Given the description of an element on the screen output the (x, y) to click on. 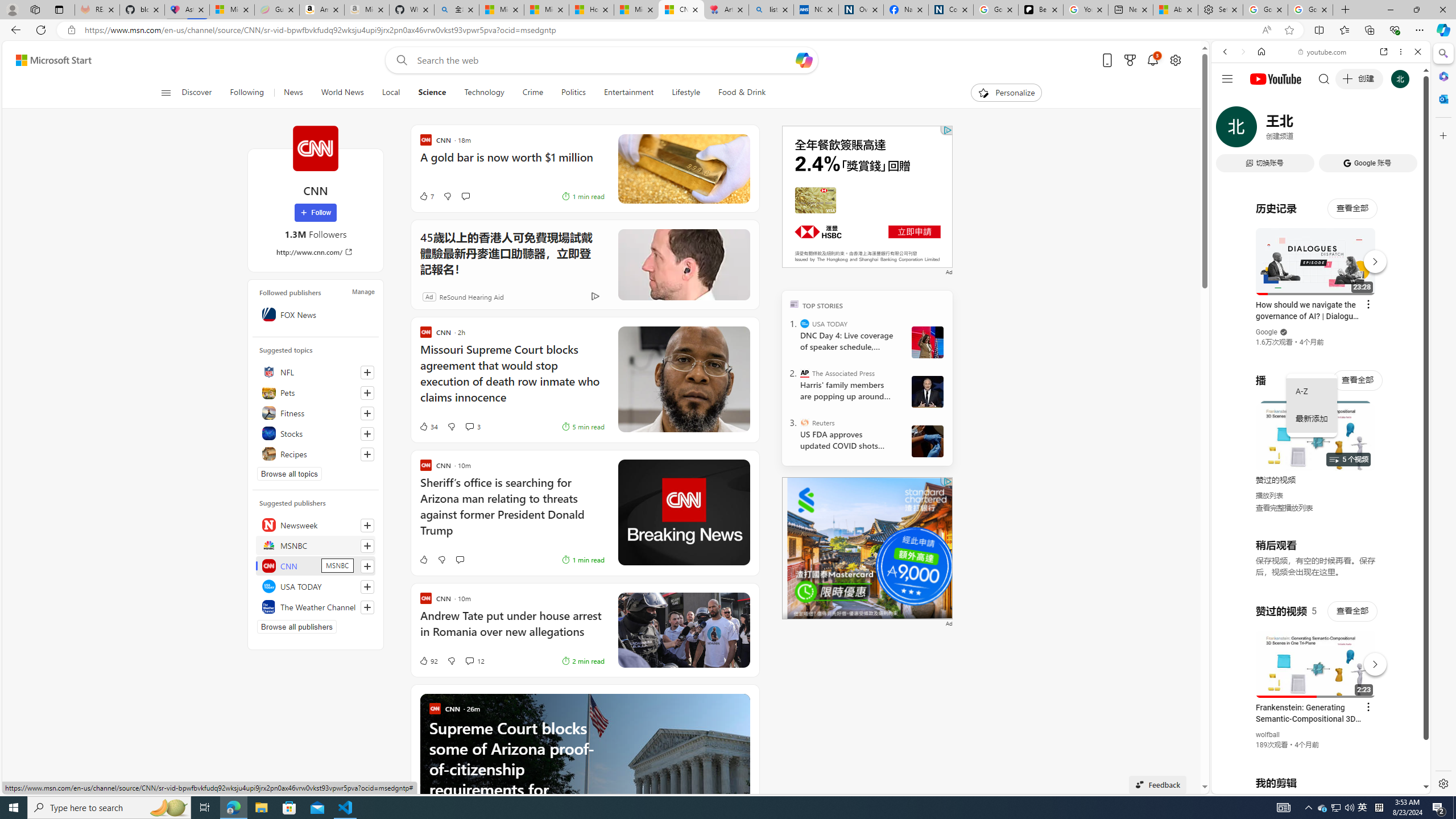
Follow this topic (367, 454)
Fitness (315, 412)
Search Filter, IMAGES (1262, 129)
http://www.cnn.com/ (315, 251)
